Given the description of an element on the screen output the (x, y) to click on. 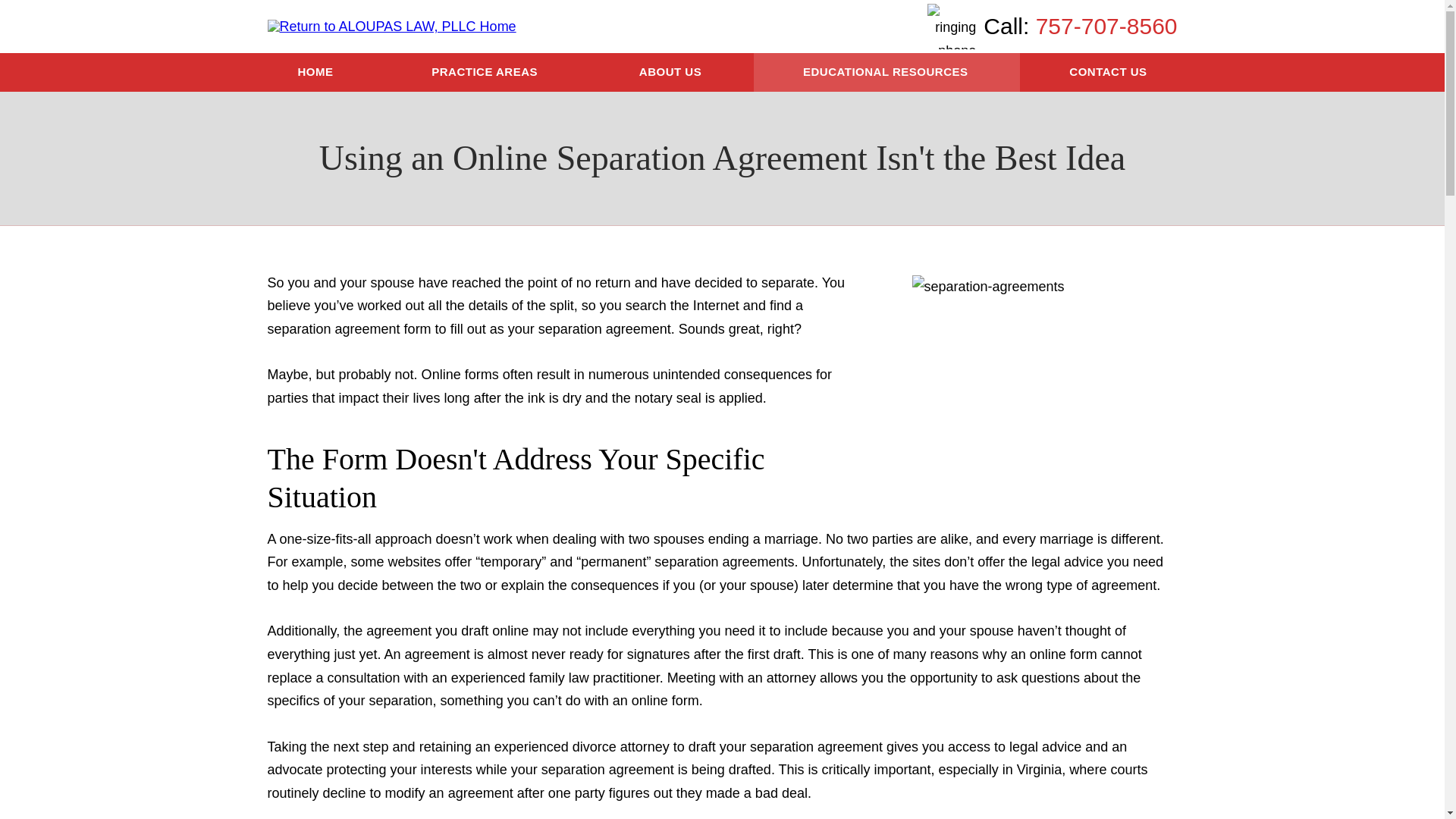
ABOUT US (671, 72)
EDUCATIONAL RESOURCES (887, 72)
PRACTICE AREAS (485, 72)
757-707-8560 (1106, 25)
CONTACT US (1107, 72)
HOME (315, 72)
